Given the description of an element on the screen output the (x, y) to click on. 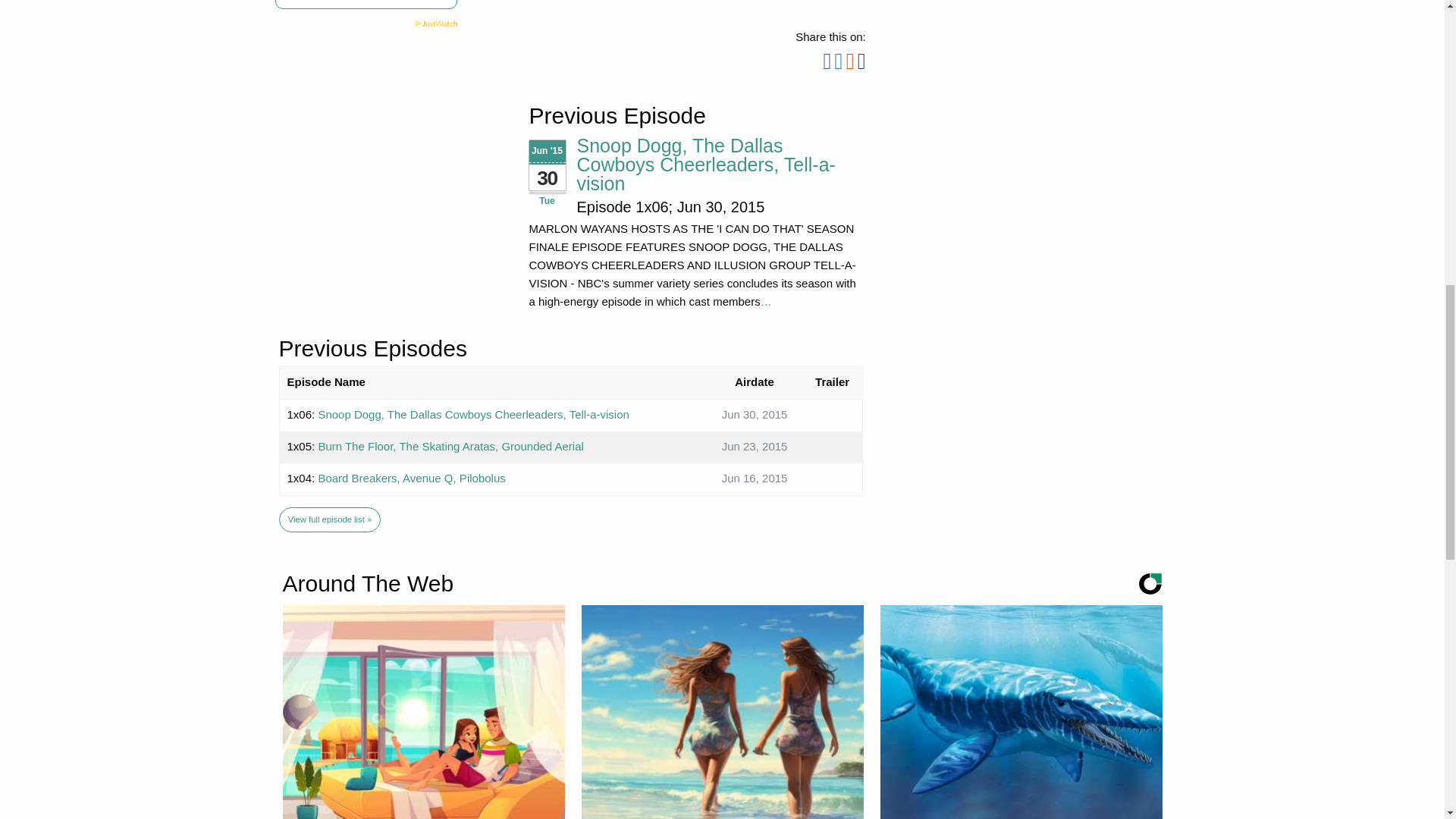
Watch now (366, 4)
